Given the description of an element on the screen output the (x, y) to click on. 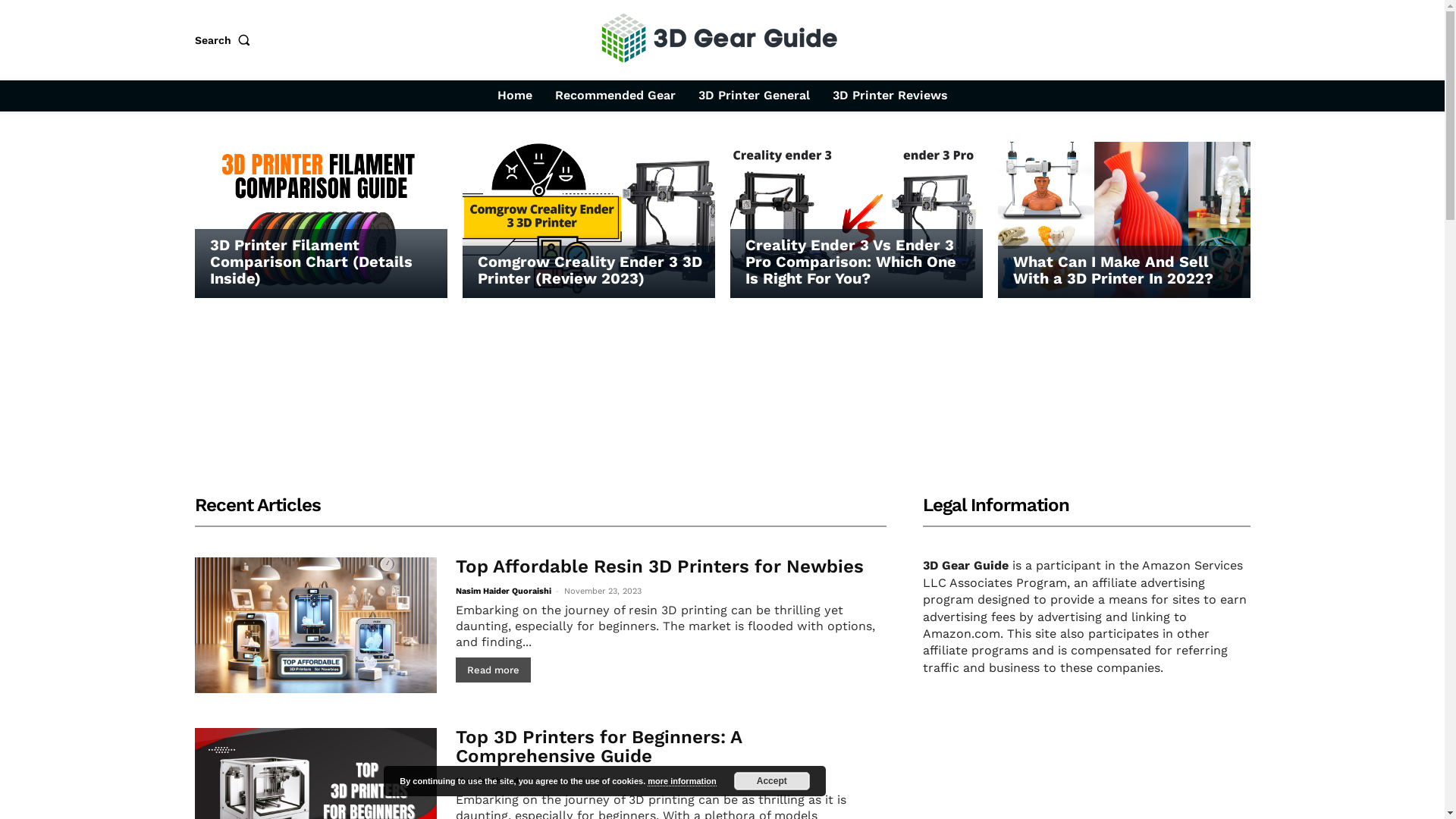
Top Affordable Resin 3D Printers for Newbies Element type: text (659, 566)
Comgrow Creality Ender 3 3D Printer (Review 2023) Element type: text (589, 269)
What Can I Make And Sell With a 3D Printer In 2022? Element type: hover (1123, 219)
Home Element type: text (514, 95)
3D Printer Reviews Element type: text (890, 95)
Read more Element type: text (492, 669)
Search Element type: text (225, 40)
Top Affordable Resin 3D Printers for Newbies Element type: hover (315, 625)
What Can I Make And Sell With a 3D Printer In 2022? Element type: text (1113, 269)
Shamim Ahmed Element type: text (486, 780)
Comgrow Creality Ender 3 3D Printer (Review 2023) Element type: hover (588, 219)
more information Element type: text (681, 781)
Advertisement Element type: hover (721, 411)
3D Printer Filament Comparison Chart (Details Inside) Element type: text (310, 261)
3D Printer General Element type: text (753, 95)
3D Printer Filament Comparison Chart (Details Inside) Element type: hover (320, 219)
Nasim Haider Quoraishi Element type: text (503, 591)
Top 3D Printers for Beginners: A Comprehensive Guide Element type: text (598, 746)
Recommended Gear Element type: text (615, 95)
Accept Element type: text (771, 780)
